Given the description of an element on the screen output the (x, y) to click on. 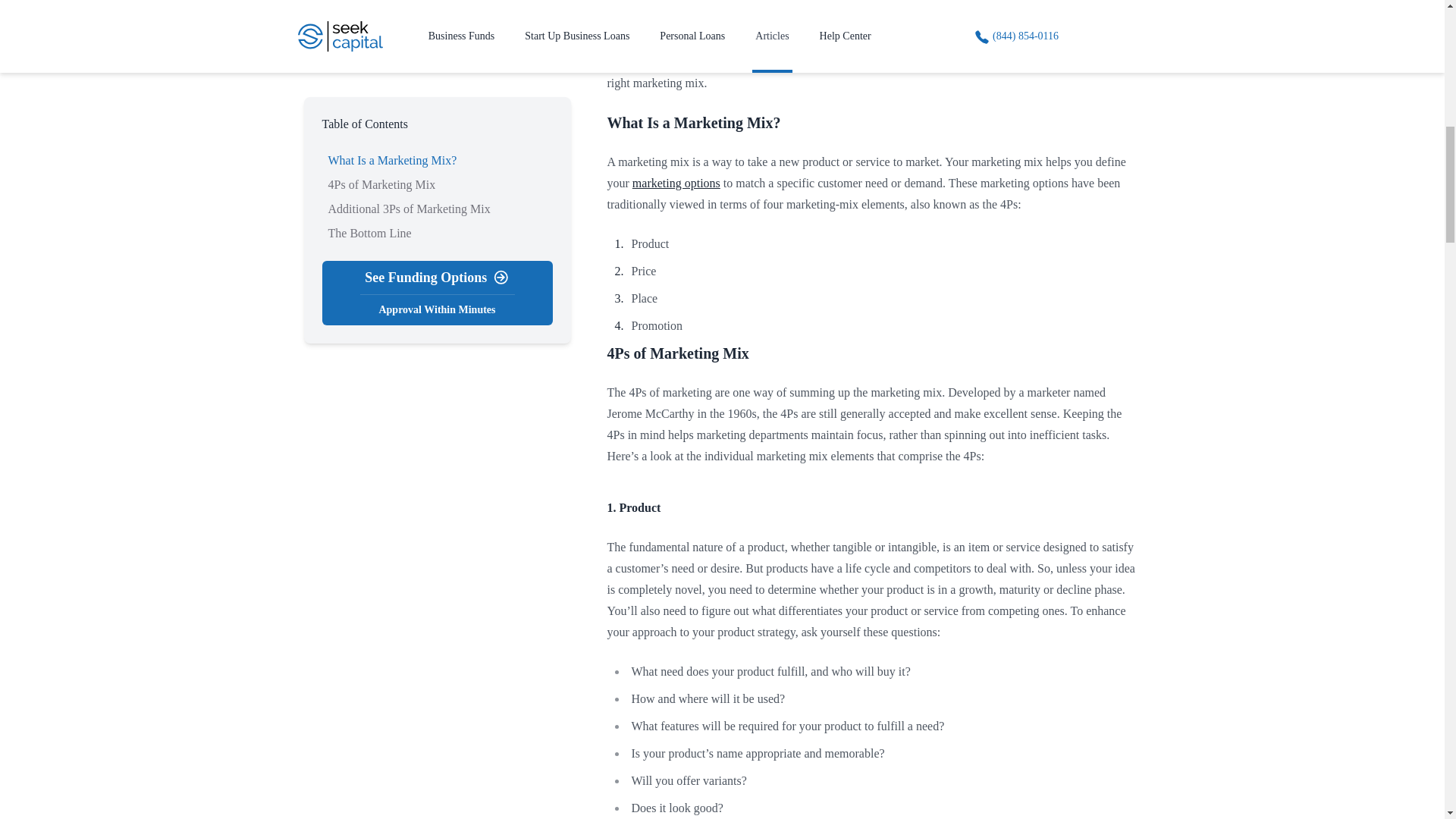
marketing options (675, 182)
1. Product (634, 507)
What Is a Marketing Mix? (693, 122)
4Ps of Marketing Mix (677, 352)
